Given the description of an element on the screen output the (x, y) to click on. 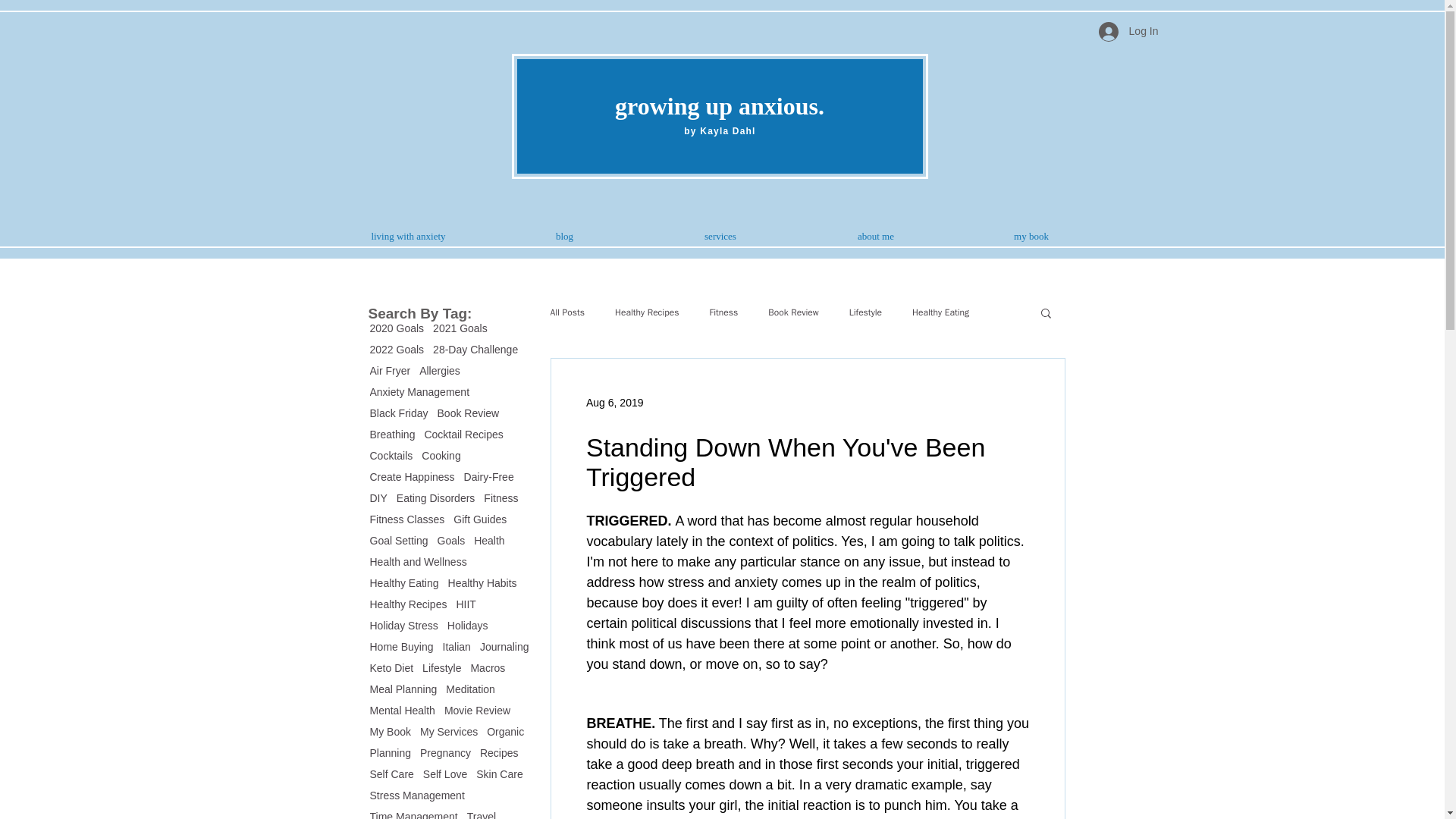
Healthy Recipes (407, 604)
2022 Goals (397, 349)
Fitness (500, 498)
Fitness Classes (407, 519)
services (720, 235)
Health and Wellness (418, 562)
2021 Goals (459, 328)
blog (564, 235)
DIY (378, 498)
Healthy Eating (404, 582)
Log In (1128, 30)
Healthy Habits (482, 582)
Allergies (439, 370)
Create Happiness (411, 476)
Eating Disorders (436, 498)
